Given the description of an element on the screen output the (x, y) to click on. 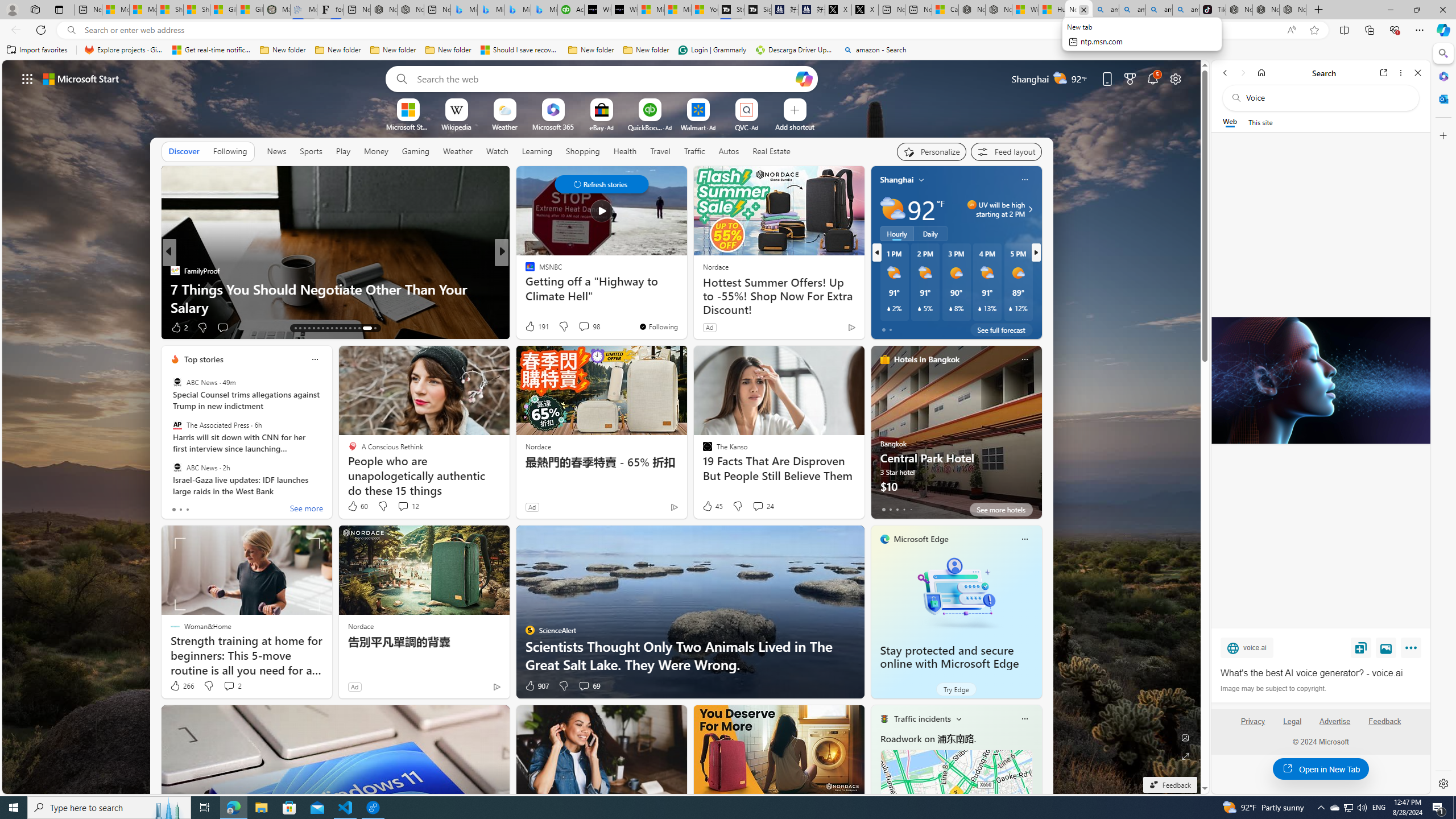
View comments 56 Comment (580, 327)
View comments 24 Comment (762, 505)
View comments 98 Comment (583, 326)
AutomationID: tab-23 (340, 328)
Manatee Mortality Statistics | FWC (277, 9)
Legal (1291, 721)
152 Like (532, 327)
Partly sunny (892, 208)
Inc. (524, 270)
266 Like (181, 685)
Try Edge (956, 689)
